Given the description of an element on the screen output the (x, y) to click on. 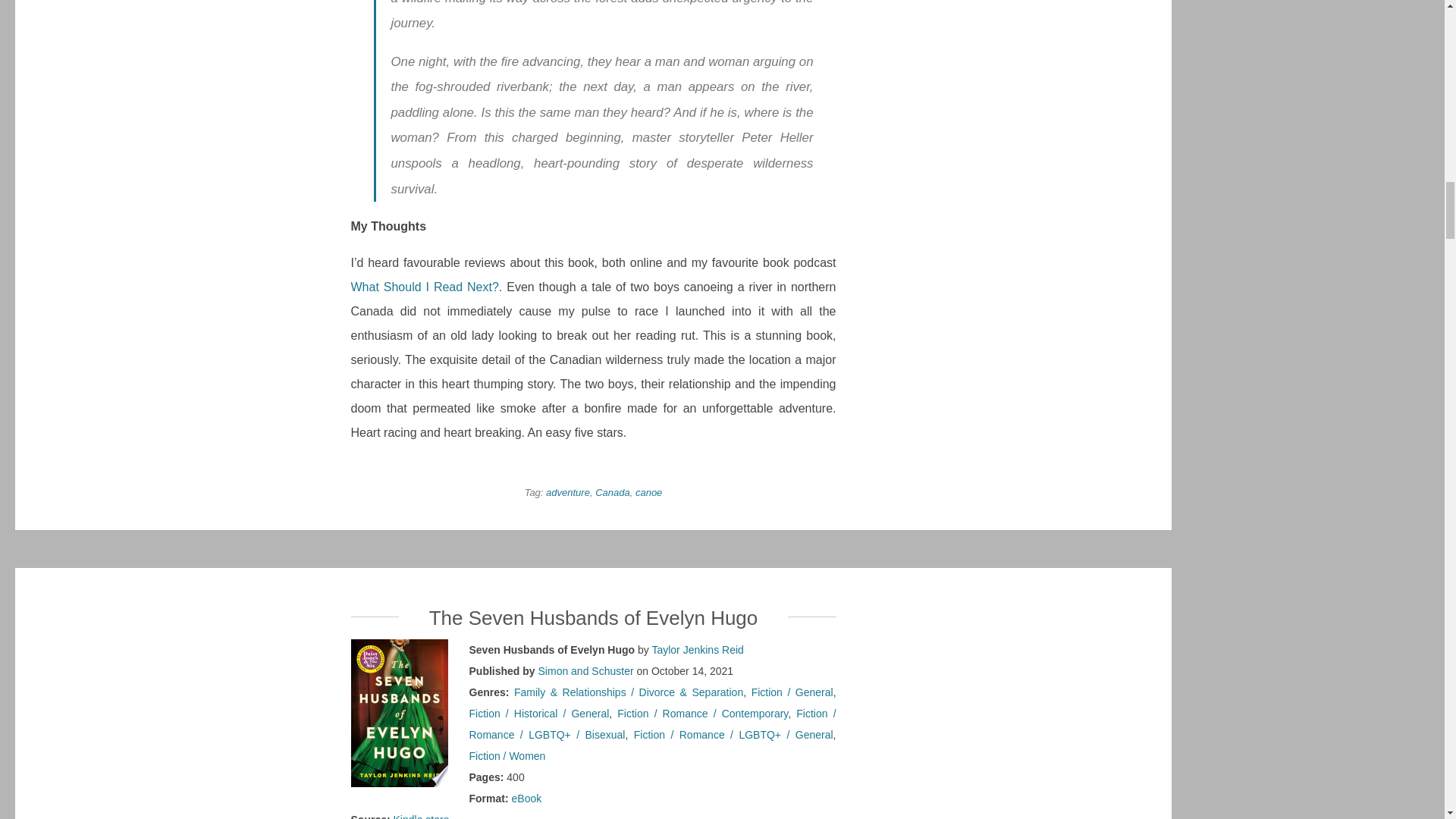
Taylor Jenkins Reid (696, 649)
adventure (567, 491)
The Seven Husbands of Evelyn Hugo (593, 617)
canoe (648, 491)
Simon and Schuster (585, 671)
eBook (526, 798)
Kindle store (421, 816)
Canada (612, 491)
What Should I Read Next? (423, 286)
